Given the description of an element on the screen output the (x, y) to click on. 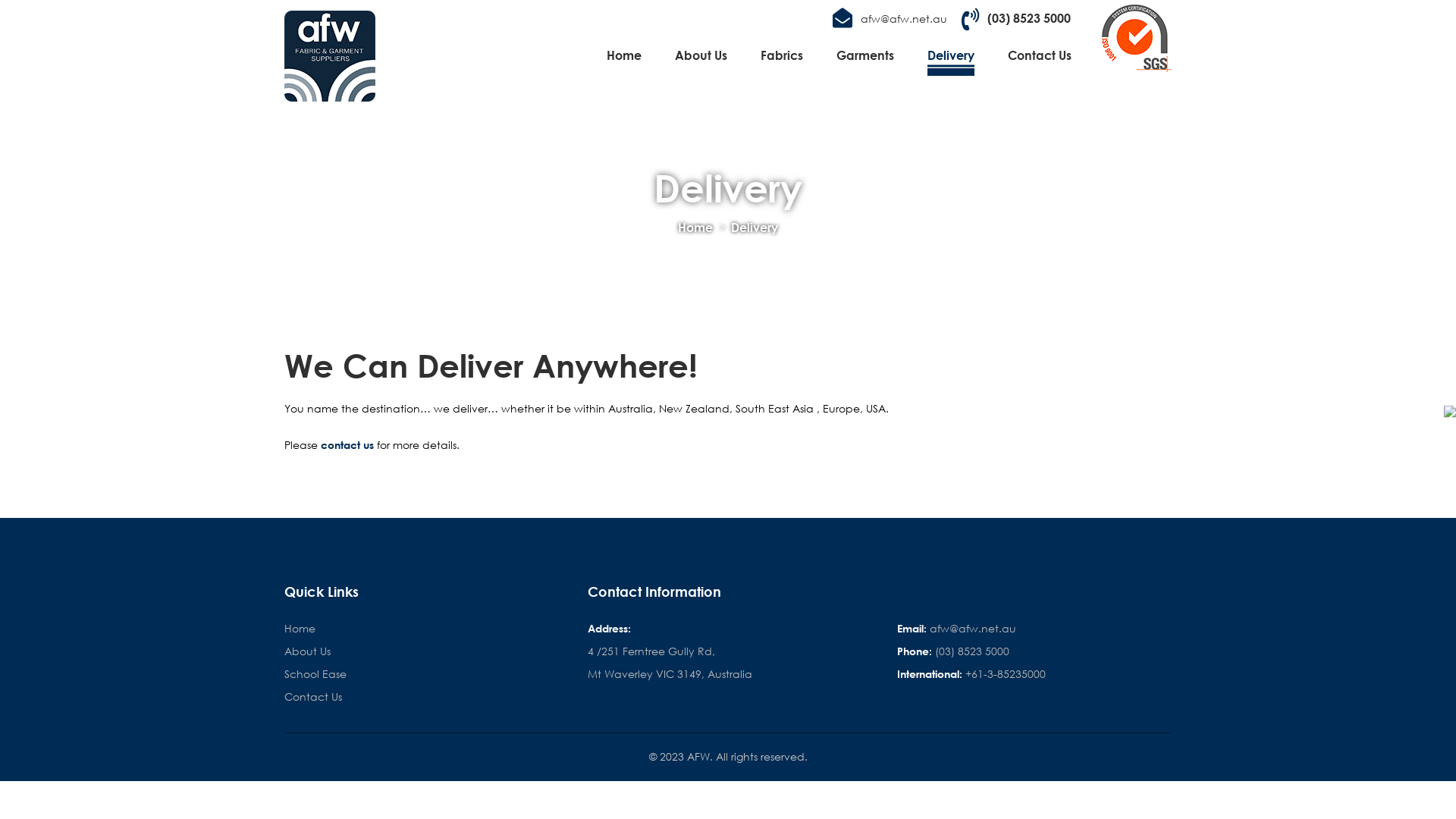
Fabrics Element type: text (781, 59)
+61-3-85235000 Element type: text (1005, 673)
Delivery Element type: text (950, 59)
sgs_logo Element type: hover (1136, 38)
School Ease Element type: text (315, 673)
Home Element type: text (694, 227)
(03) 8523 5000 Element type: text (972, 651)
contact us Element type: text (346, 444)
Home Element type: text (299, 628)
Home Element type: text (623, 59)
Garments Element type: text (865, 59)
Contact Us Element type: text (313, 696)
afw@afw.net.au Element type: text (889, 19)
AFW Element type: hover (329, 55)
About Us Element type: text (307, 651)
About Us Element type: text (700, 59)
afw@afw.net.au Element type: text (972, 628)
(03) 8523 5000 Element type: text (1015, 19)
Contact Us Element type: text (1039, 59)
